Given the description of an element on the screen output the (x, y) to click on. 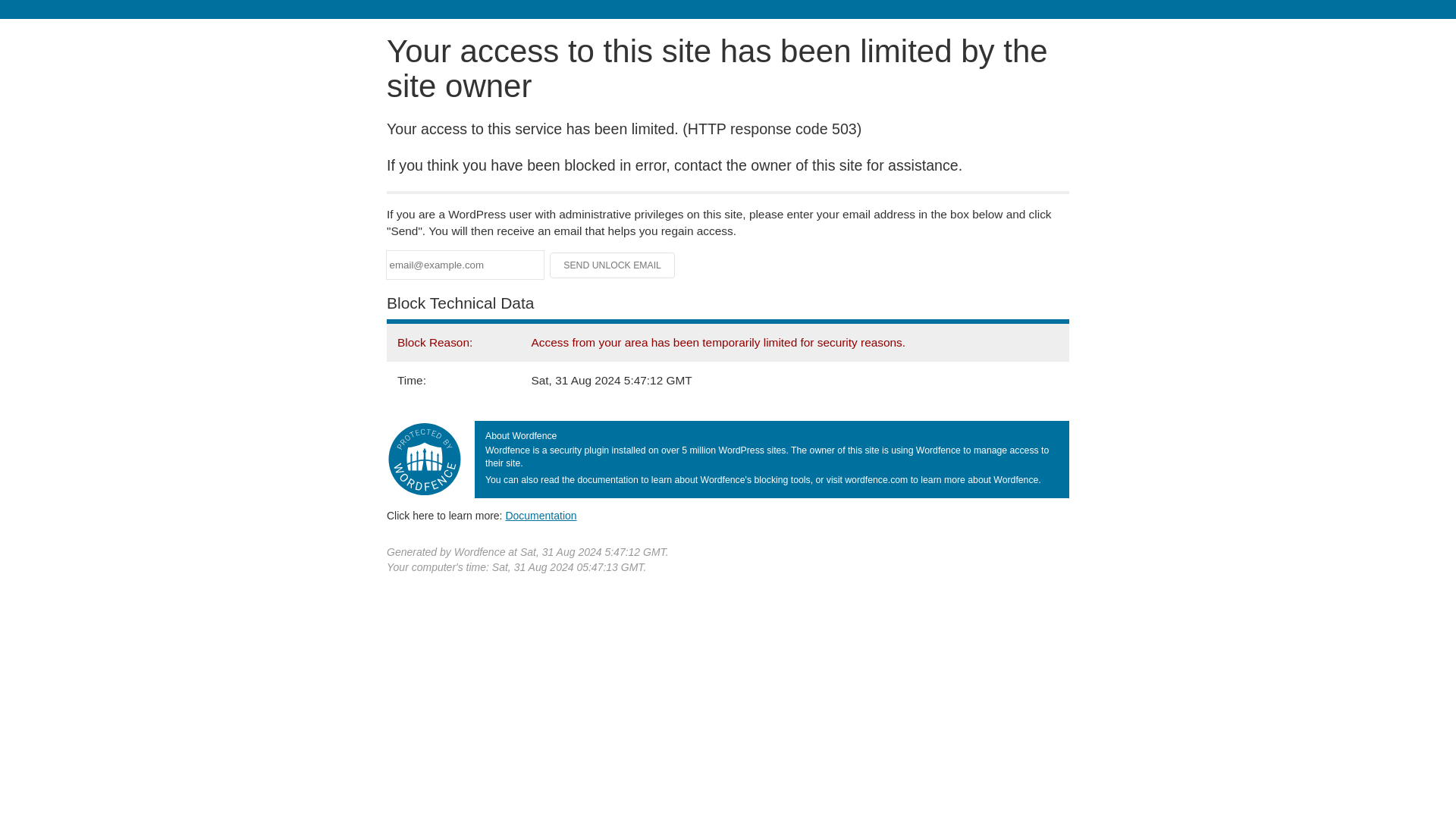
Documentation (540, 515)
Send Unlock Email (612, 265)
Send Unlock Email (612, 265)
